Given the description of an element on the screen output the (x, y) to click on. 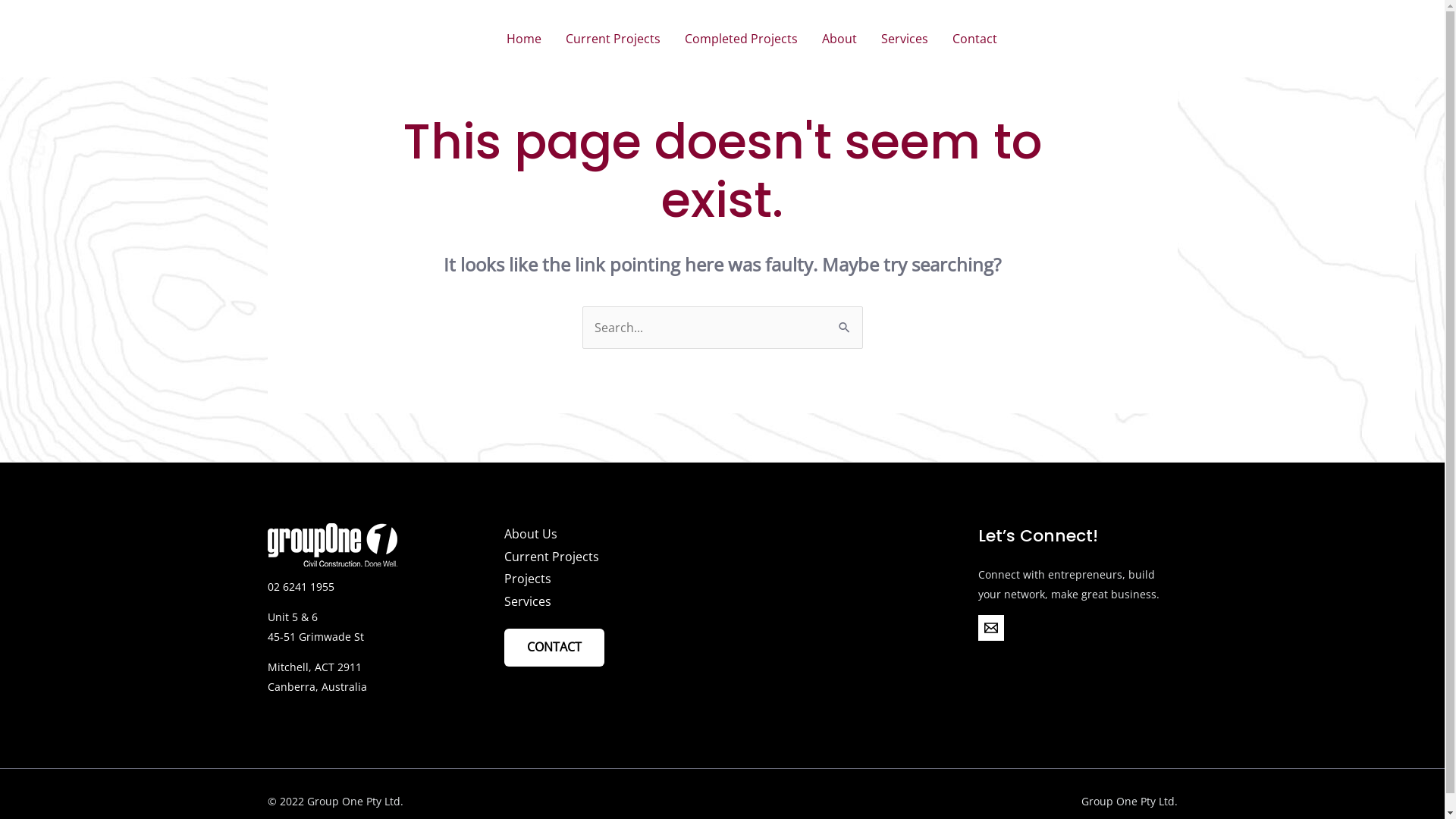
Projects Element type: text (527, 578)
Home Element type: text (523, 38)
Search Element type: text (845, 321)
Services Element type: text (904, 38)
Current Projects Element type: text (612, 38)
02 6241 1955 Element type: text (1075, 39)
About Element type: text (839, 38)
Current Projects Element type: text (551, 556)
Completed Projects Element type: text (740, 38)
CONTACT Element type: text (554, 647)
Services Element type: text (527, 601)
Contact Element type: text (974, 38)
About Us Element type: text (530, 533)
